Given the description of an element on the screen output the (x, y) to click on. 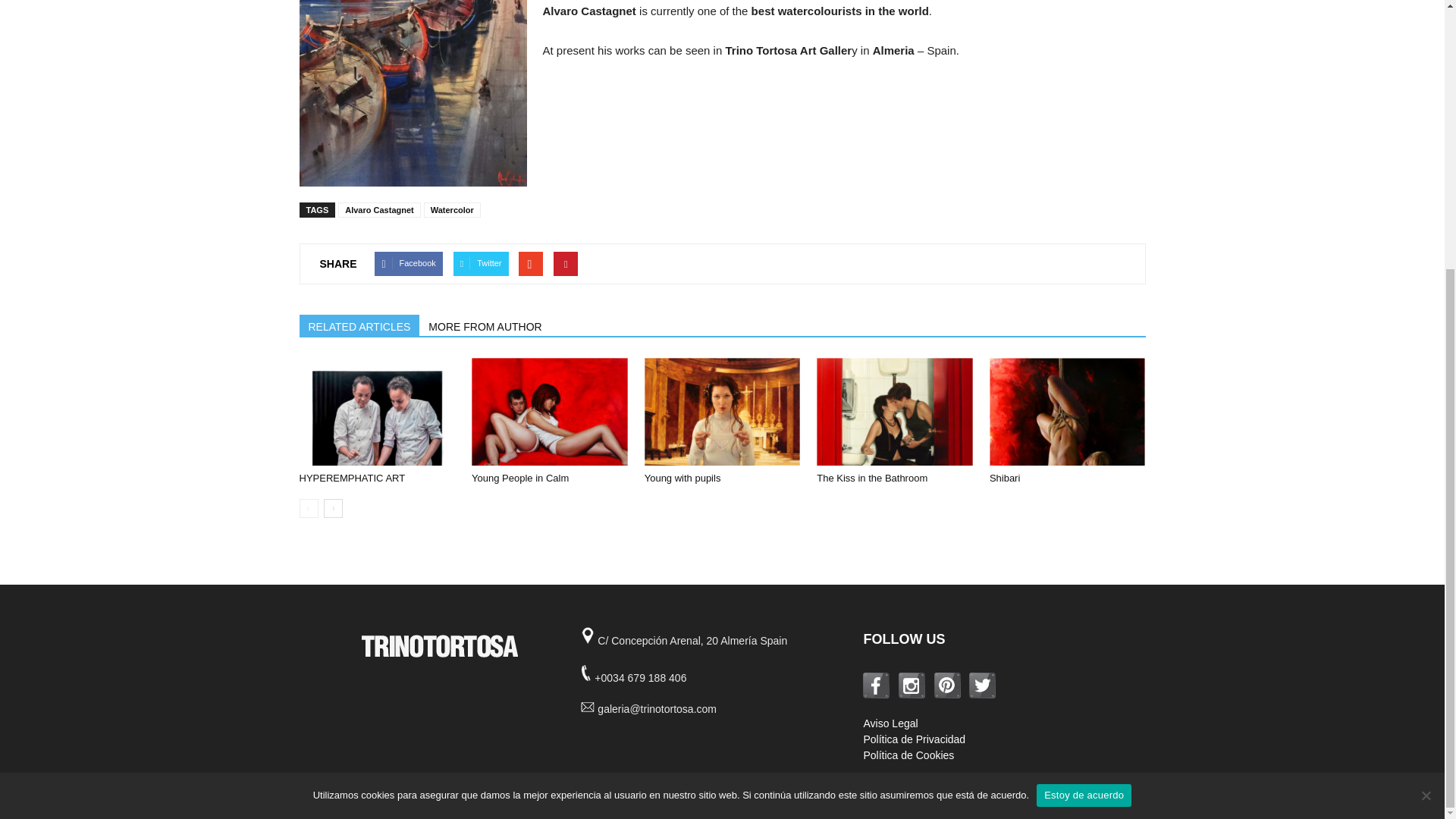
Young with pupils (722, 411)
Young People in Calm (549, 411)
MORE FROM AUTHOR (484, 324)
Young People in Calm (520, 478)
Venecia Alvaro Castagnet (411, 93)
Alvaro Castagnet (378, 209)
RELATED ARTICLES (358, 324)
Twitter (480, 263)
HYPEREMPHATIC ART (351, 478)
Watercolor (451, 209)
